Given the description of an element on the screen output the (x, y) to click on. 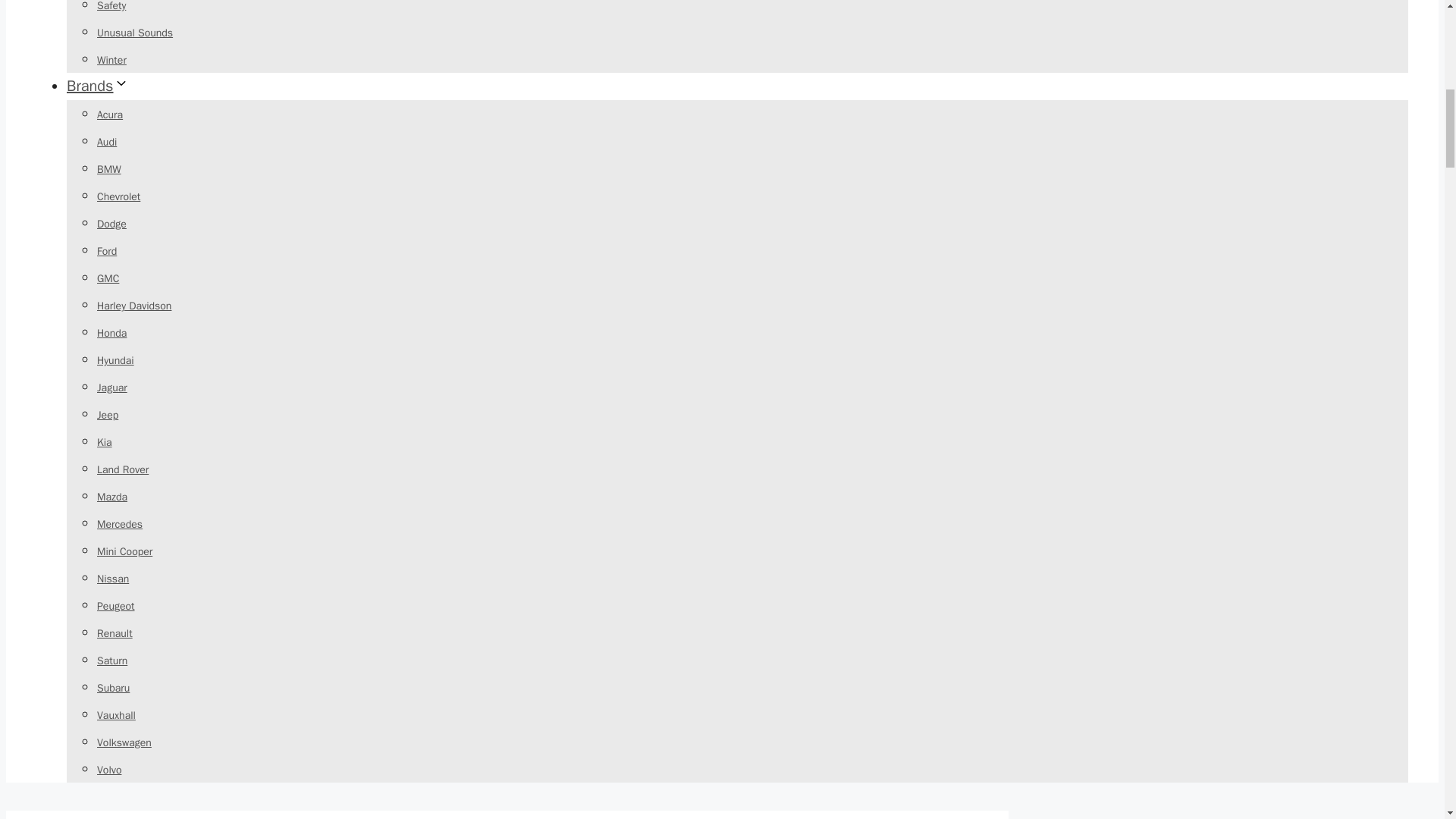
Harley Davidson (134, 305)
Hyundai (115, 359)
Winter (111, 60)
Honda (111, 332)
Safety (111, 6)
BMW (108, 169)
GMC (108, 278)
Jaguar (112, 387)
Jeep (107, 414)
Audi (106, 141)
Acura (109, 114)
Chevrolet (118, 196)
Dodge (111, 223)
Unusual Sounds (135, 32)
Ford (106, 250)
